Given the description of an element on the screen output the (x, y) to click on. 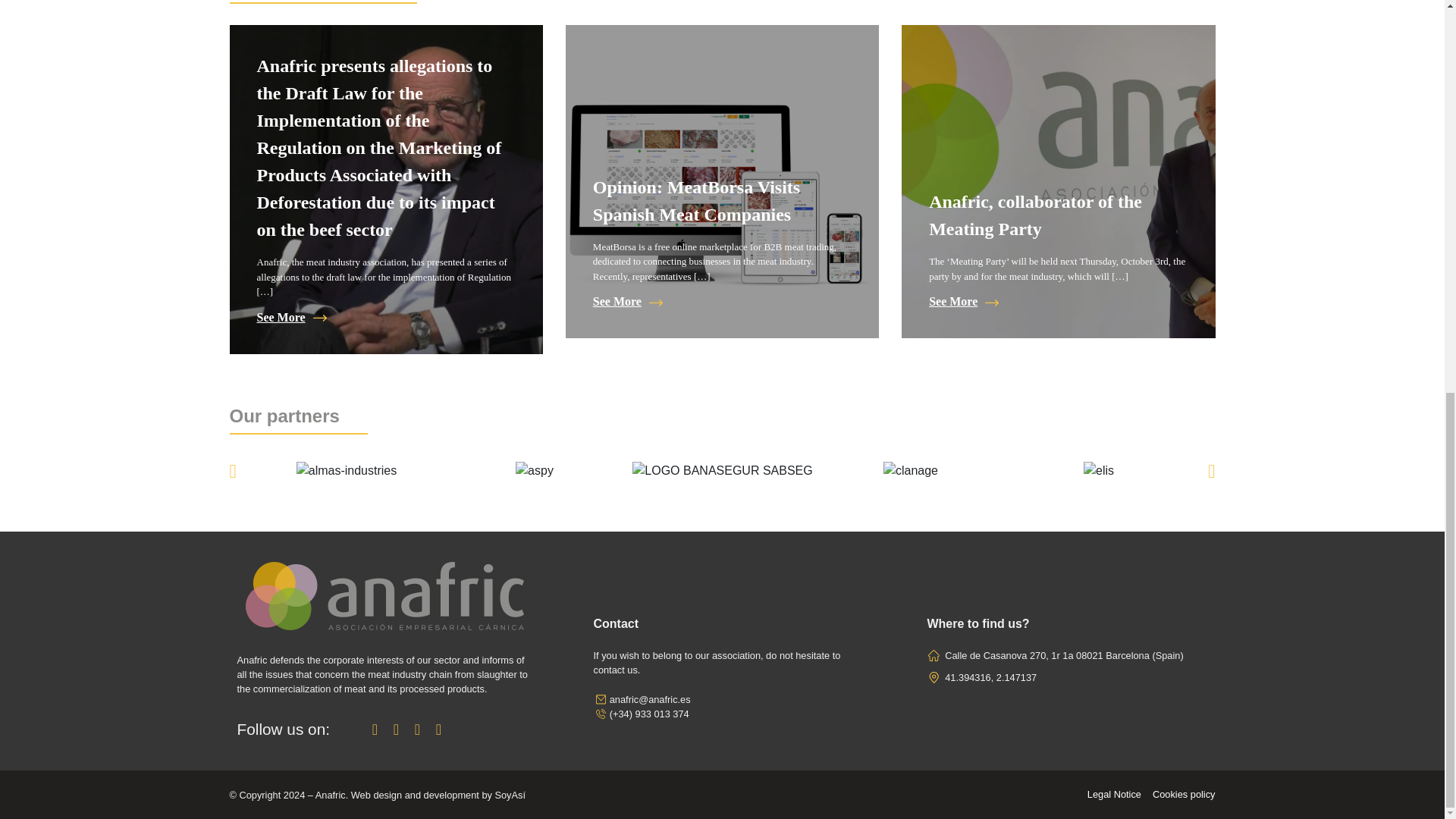
Cookies policy (1184, 794)
Legal Notice (1114, 794)
